Given the description of an element on the screen output the (x, y) to click on. 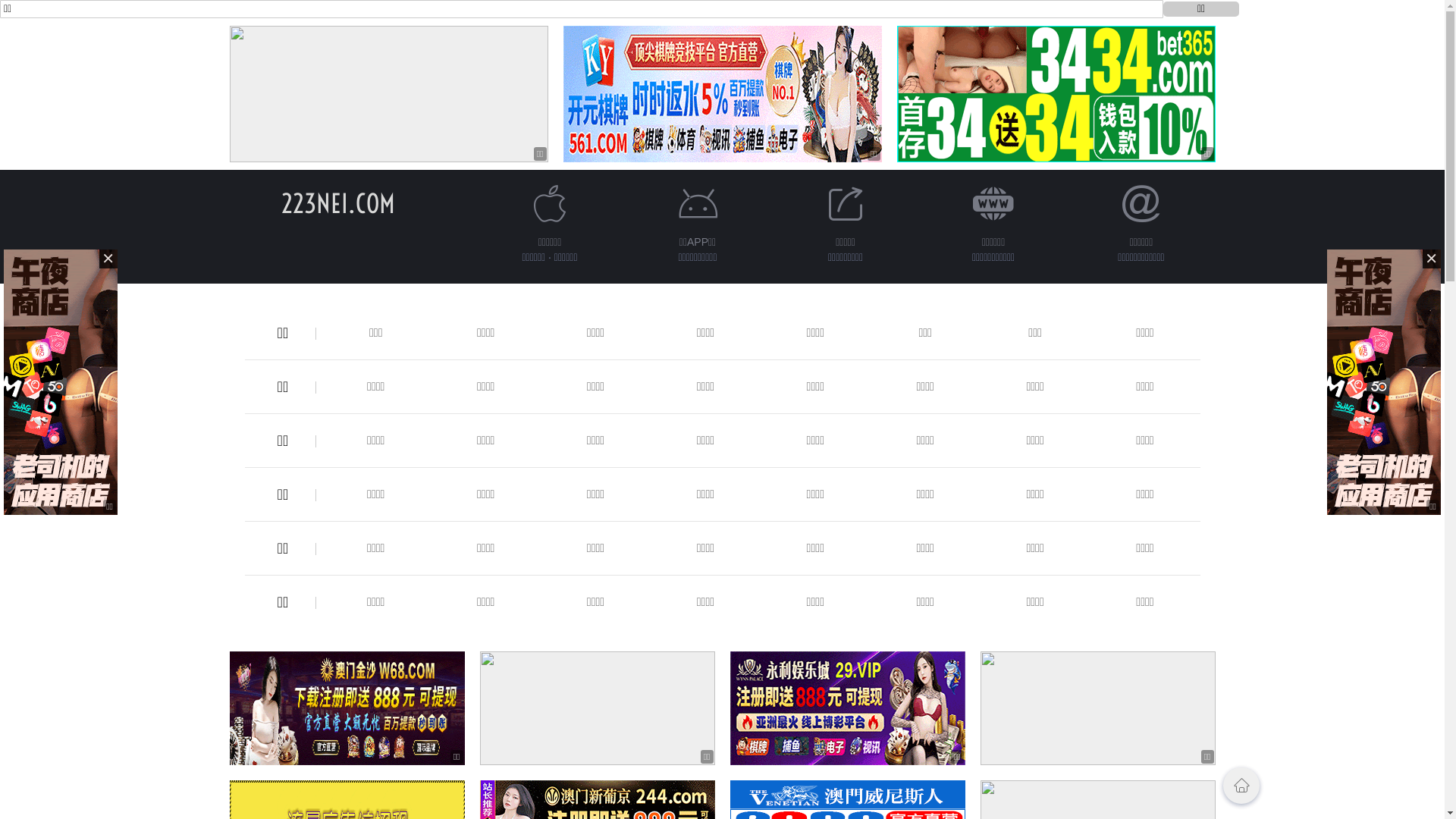
223NEI.COM Element type: text (337, 203)
